Given the description of an element on the screen output the (x, y) to click on. 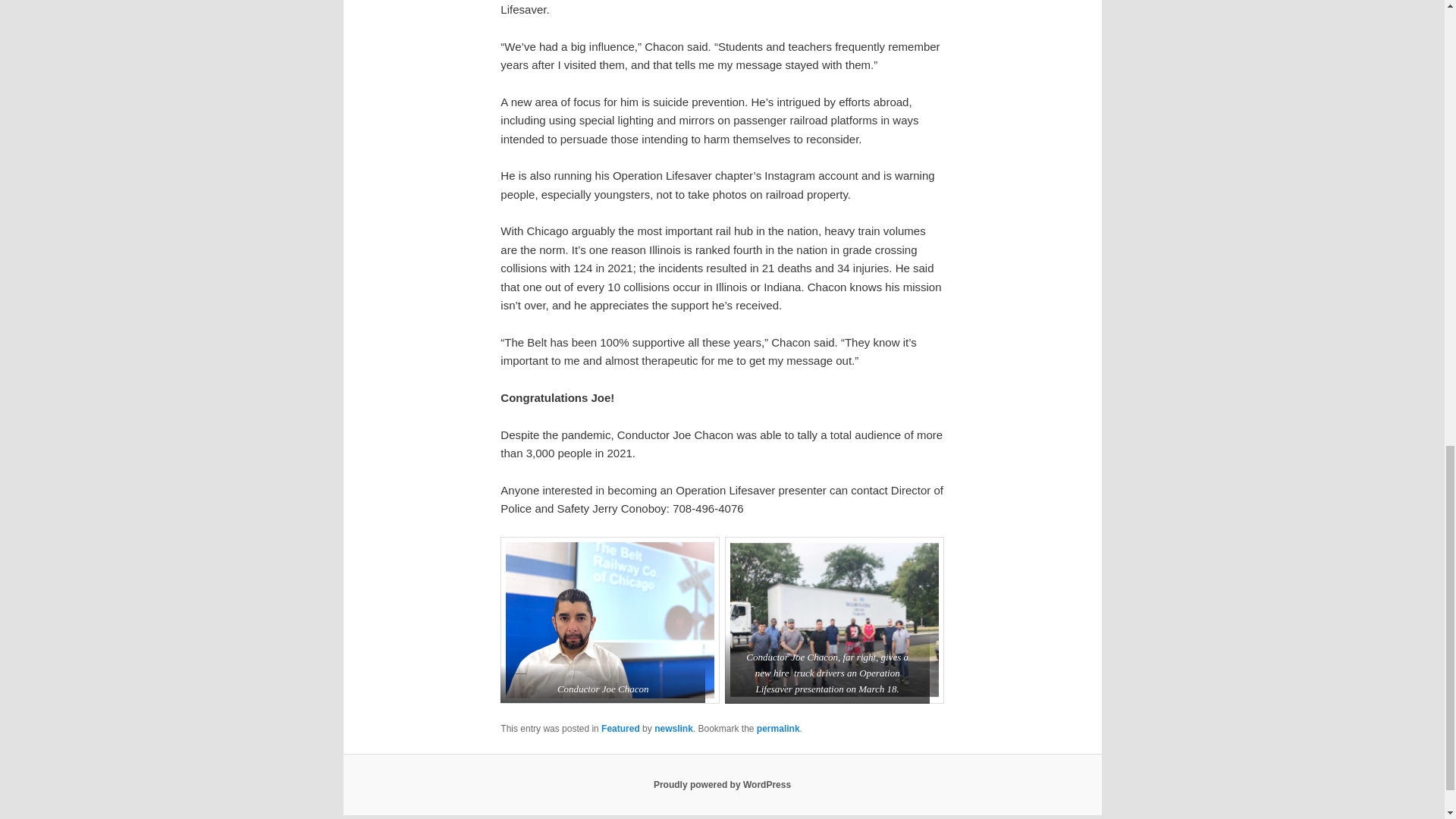
Semantic Personal Publishing Platform (721, 784)
